Given the description of an element on the screen output the (x, y) to click on. 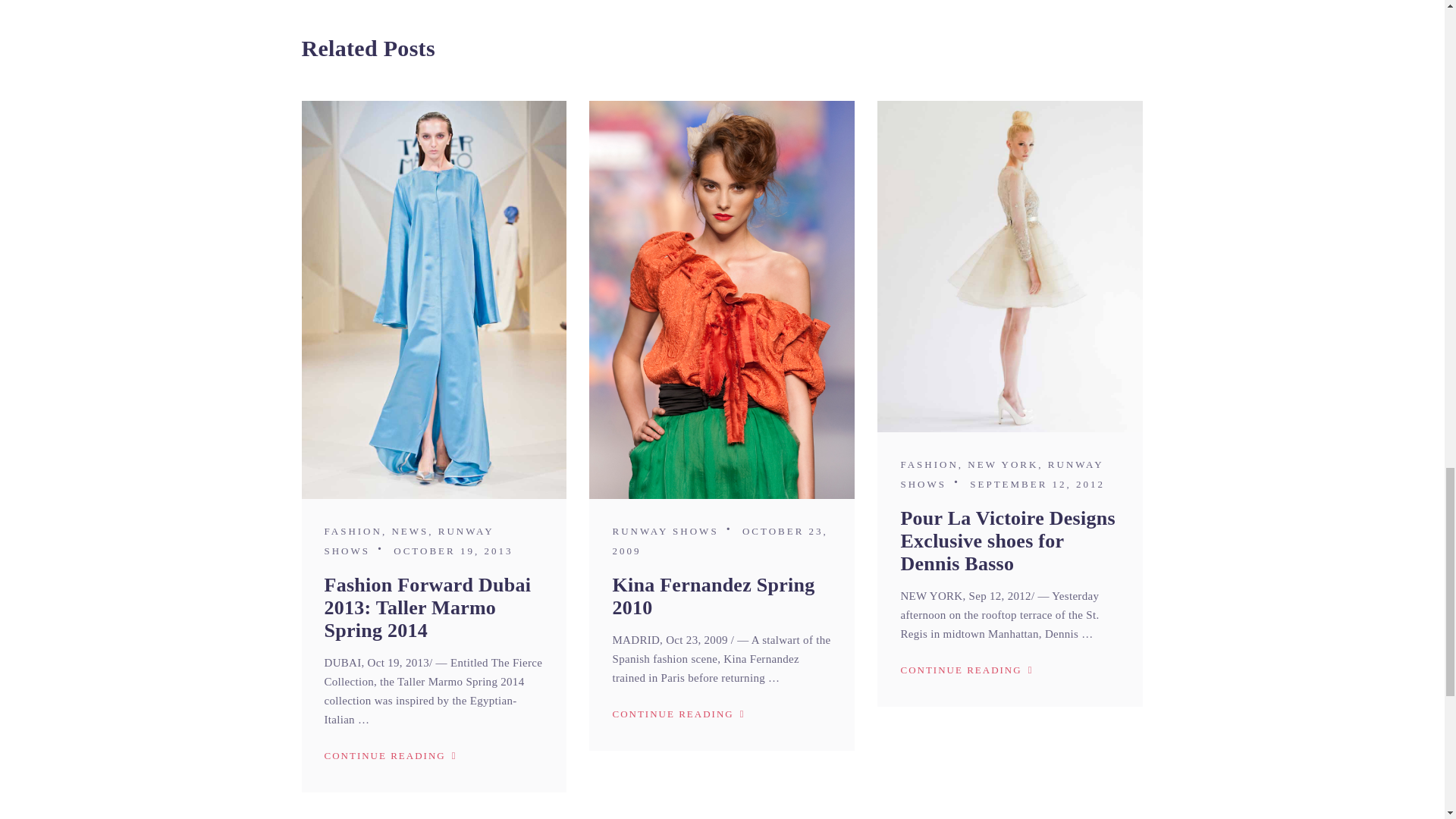
RUNWAY SHOWS (409, 540)
View all posts in News (409, 531)
Fashion Forward Dubai 2013: Taller Marmo Spring 2014 (427, 607)
View all posts in Fashion (352, 531)
FASHION (352, 531)
NEWS (409, 531)
